Given the description of an element on the screen output the (x, y) to click on. 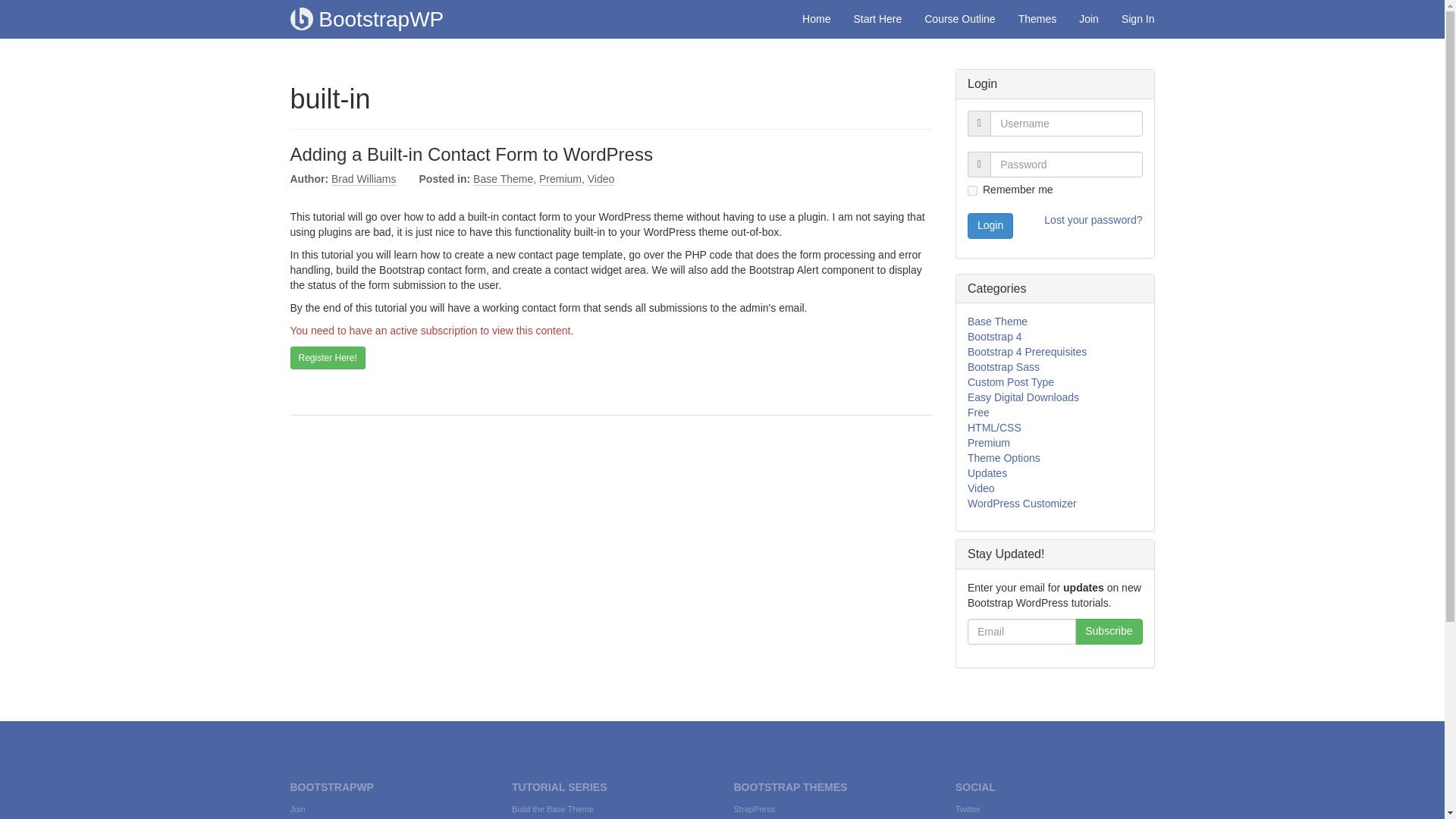
Subscribe (1108, 631)
Updates (987, 472)
Course Outline (959, 18)
Bootstrap 4 (995, 336)
Premium (989, 442)
Login (990, 225)
Brad Williams (363, 178)
Themes (1037, 18)
BootstrapWP (367, 18)
Video (601, 178)
